Given the description of an element on the screen output the (x, y) to click on. 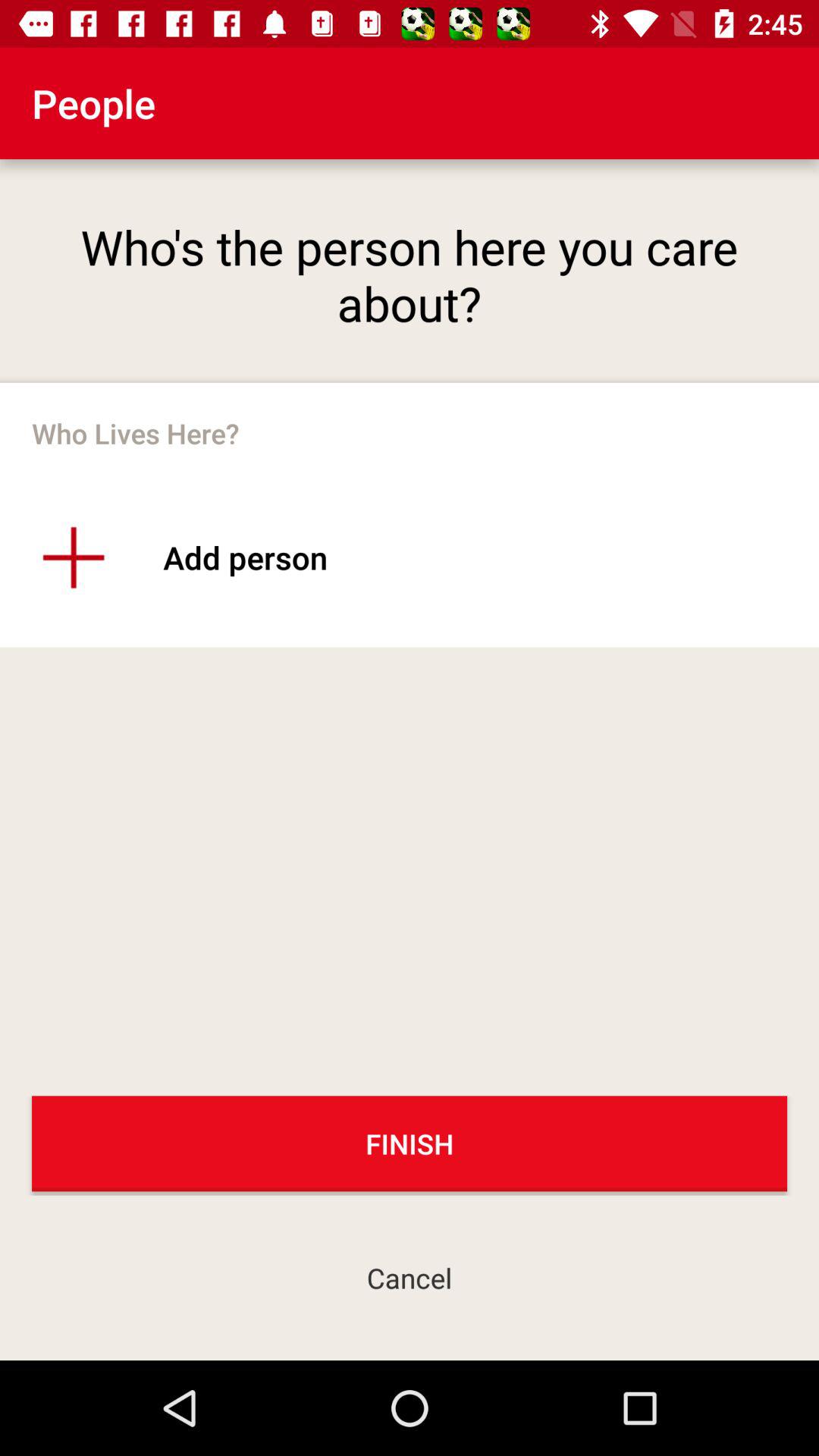
scroll to finish icon (409, 1143)
